Given the description of an element on the screen output the (x, y) to click on. 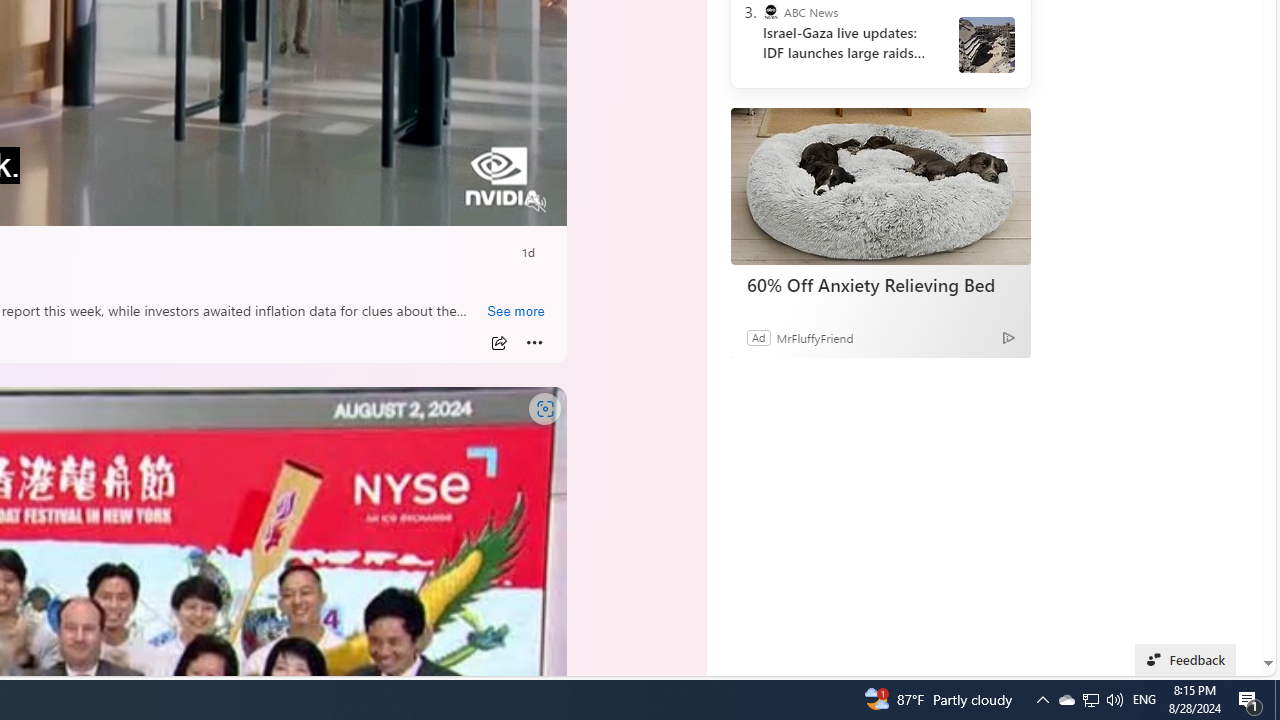
Unmute (535, 203)
Share (498, 343)
60% Off Anxiety Relieving Bed (880, 284)
ABC News (770, 12)
More (534, 343)
Fullscreen (497, 203)
MrFluffyFriend (813, 337)
60% Off Anxiety Relieving Bed (879, 186)
More (534, 343)
Captions (457, 203)
